Given the description of an element on the screen output the (x, y) to click on. 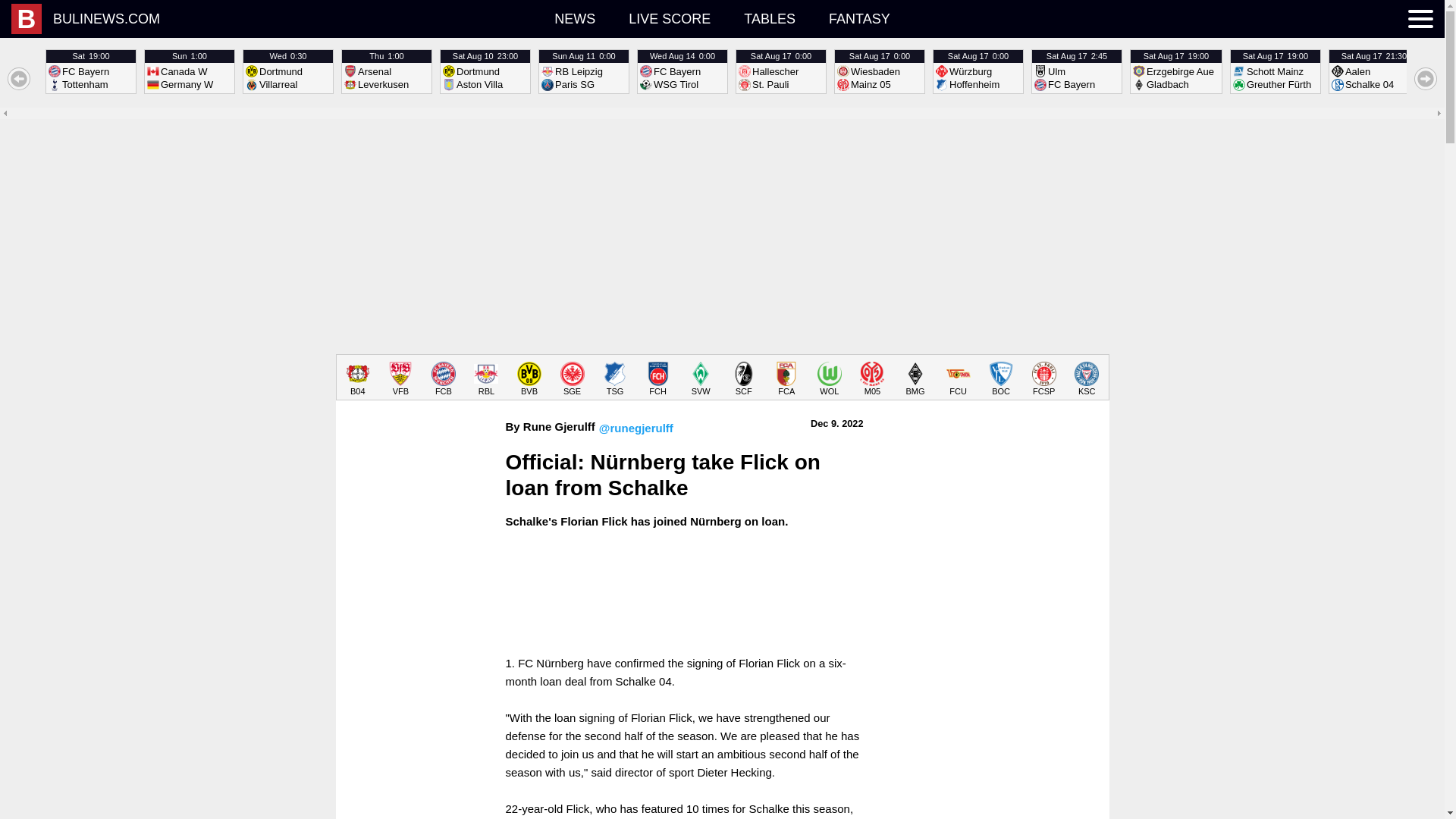
Wolfsburg News (879, 71)
TABLES (829, 378)
Stuttgart News (769, 18)
Mainz News (90, 71)
NEWS (400, 378)
Eintracht Frankfurt News (871, 378)
Union Berlin News (1373, 71)
TSG Hoffenheim News (574, 18)
